Given the description of an element on the screen output the (x, y) to click on. 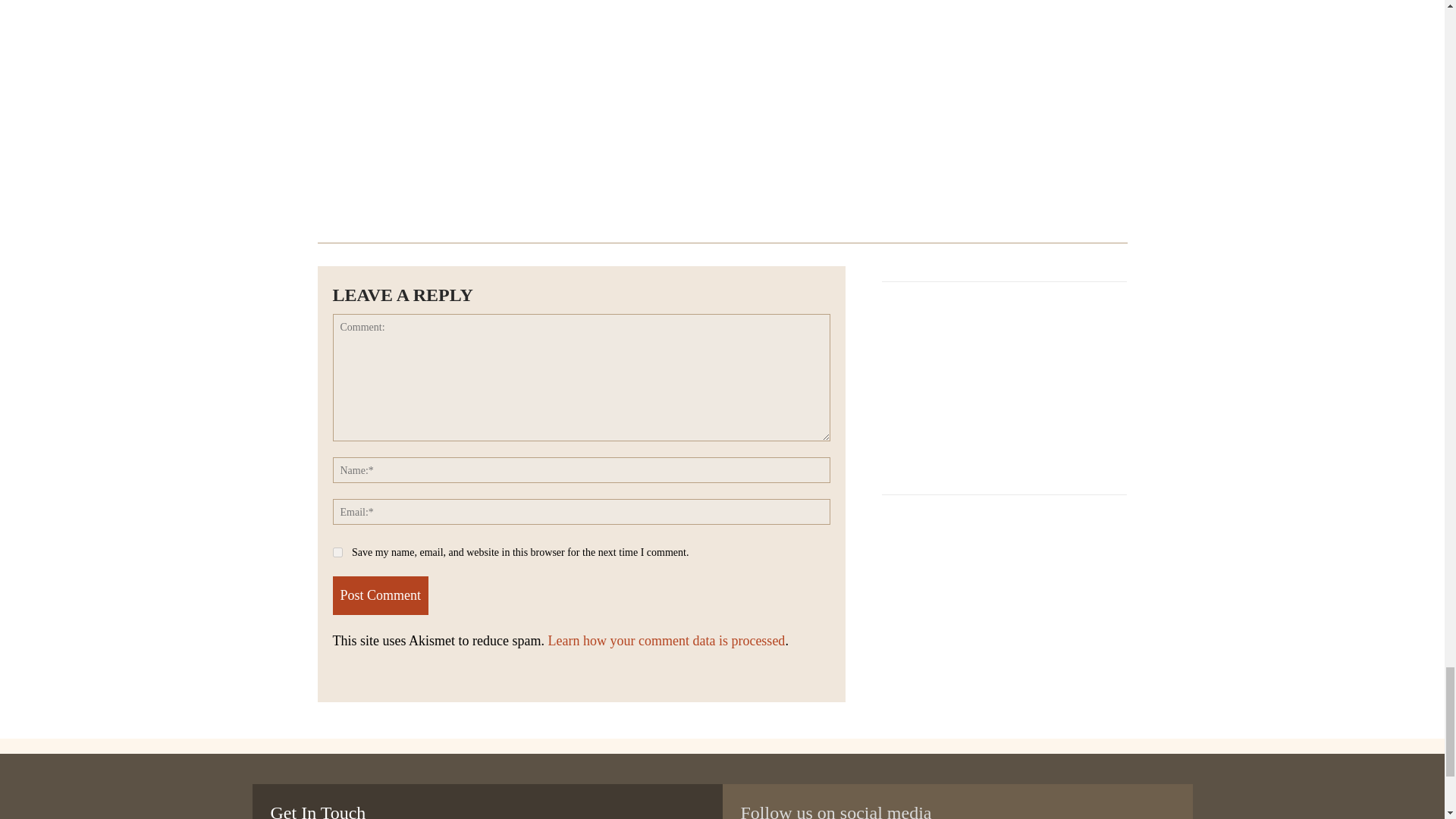
Post Comment (379, 595)
yes (336, 552)
